Given the description of an element on the screen output the (x, y) to click on. 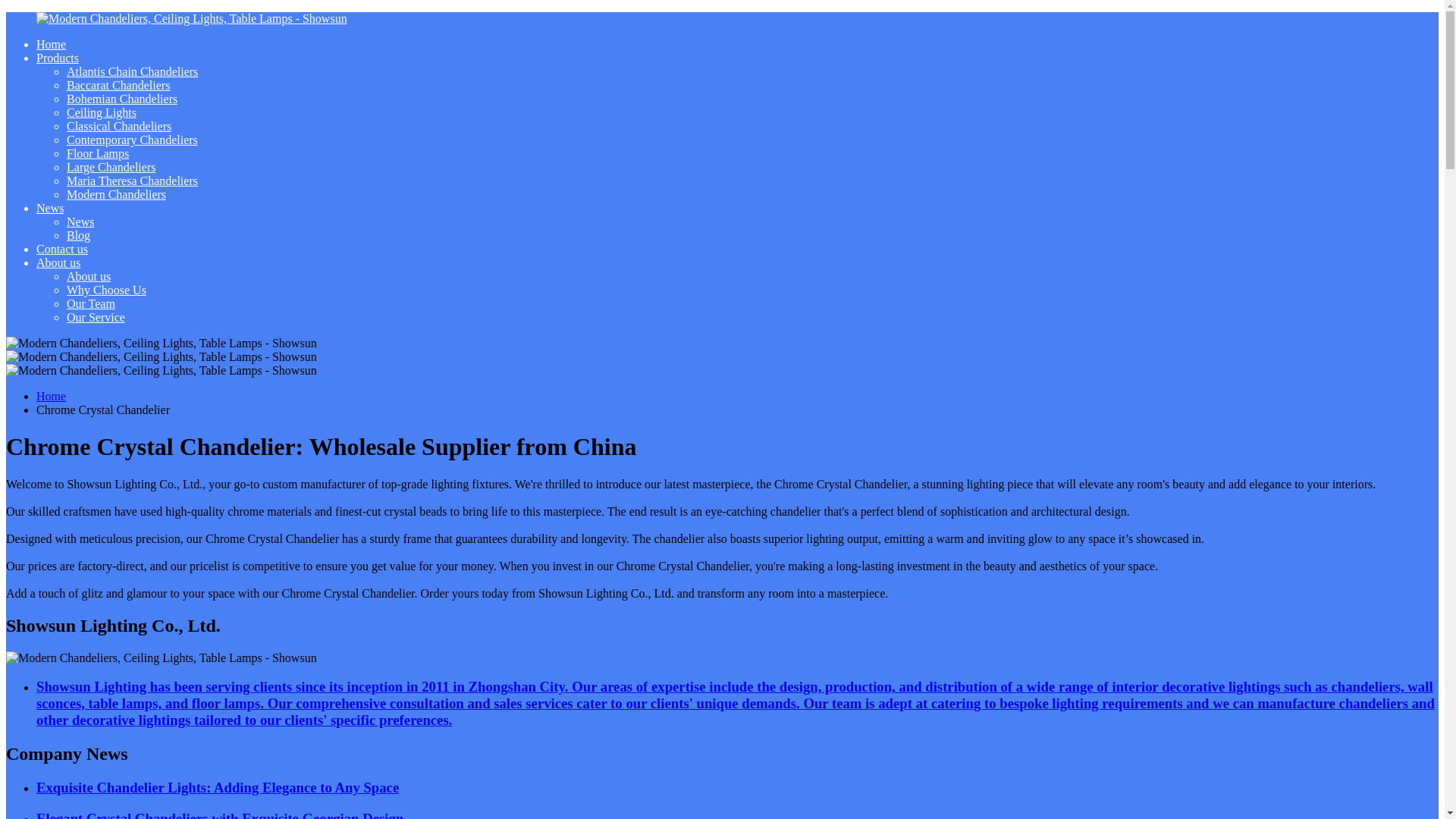
News (80, 221)
Our Service (95, 317)
Our Team (90, 303)
Products (57, 57)
Atlantis Chain Chandeliers (132, 71)
Ceiling Lights (101, 112)
News (50, 207)
Baccarat Chandeliers (118, 84)
Modern Chandeliers (115, 194)
Classical Chandeliers (118, 125)
Floor Lamps (97, 153)
Contact us (61, 248)
About us (88, 276)
Bohemian Chandeliers (121, 98)
About us (58, 262)
